Given the description of an element on the screen output the (x, y) to click on. 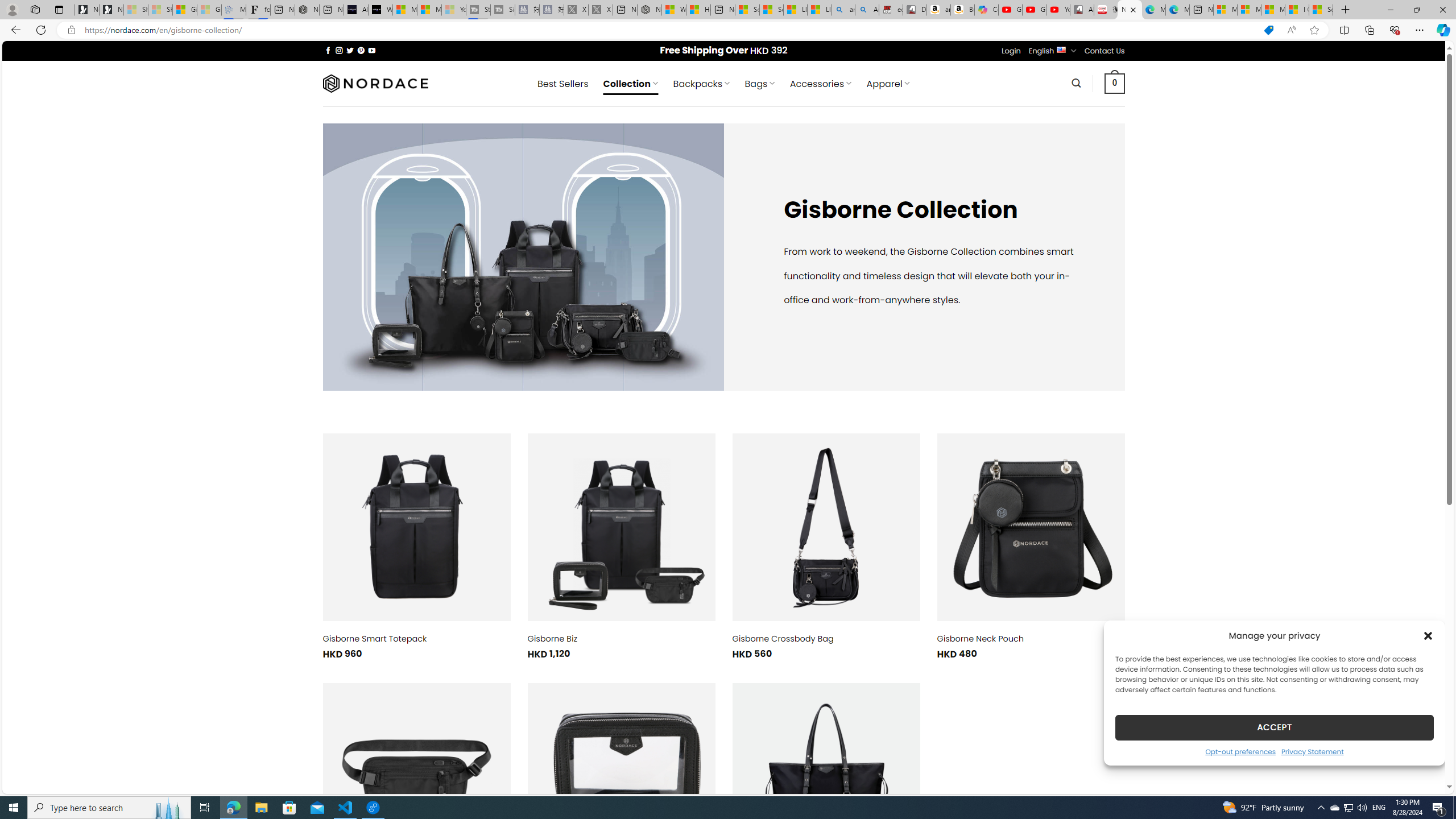
Opt-out preferences (1240, 750)
